Given the description of an element on the screen output the (x, y) to click on. 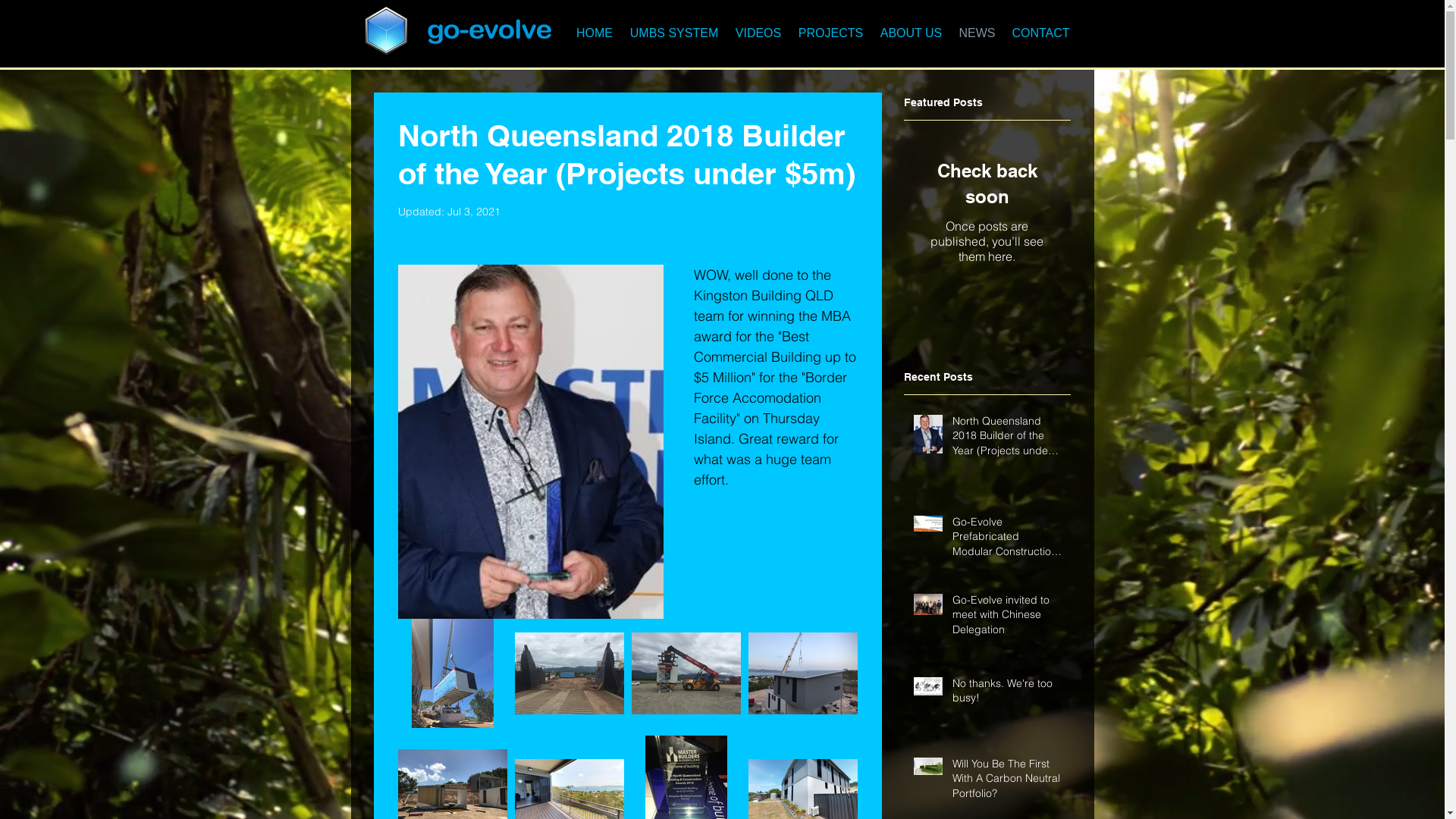
go evolve logo.png Element type: hover (488, 31)
VIDEOS Element type: text (757, 32)
Will You Be The First With A Carbon Neutral Portfolio? Element type: text (1006, 781)
PROJECTS Element type: text (831, 32)
goevolve Element type: hover (387, 28)
CONTACT Element type: text (1041, 32)
HOME Element type: text (594, 32)
Go-Evolve invited to meet with Chinese Delegation Element type: text (1006, 618)
ABOUT US Element type: text (911, 32)
No thanks. We're too busy! Element type: text (1006, 694)
UMBS SYSTEM Element type: text (674, 32)
NEWS Element type: text (977, 32)
